Given the description of an element on the screen output the (x, y) to click on. 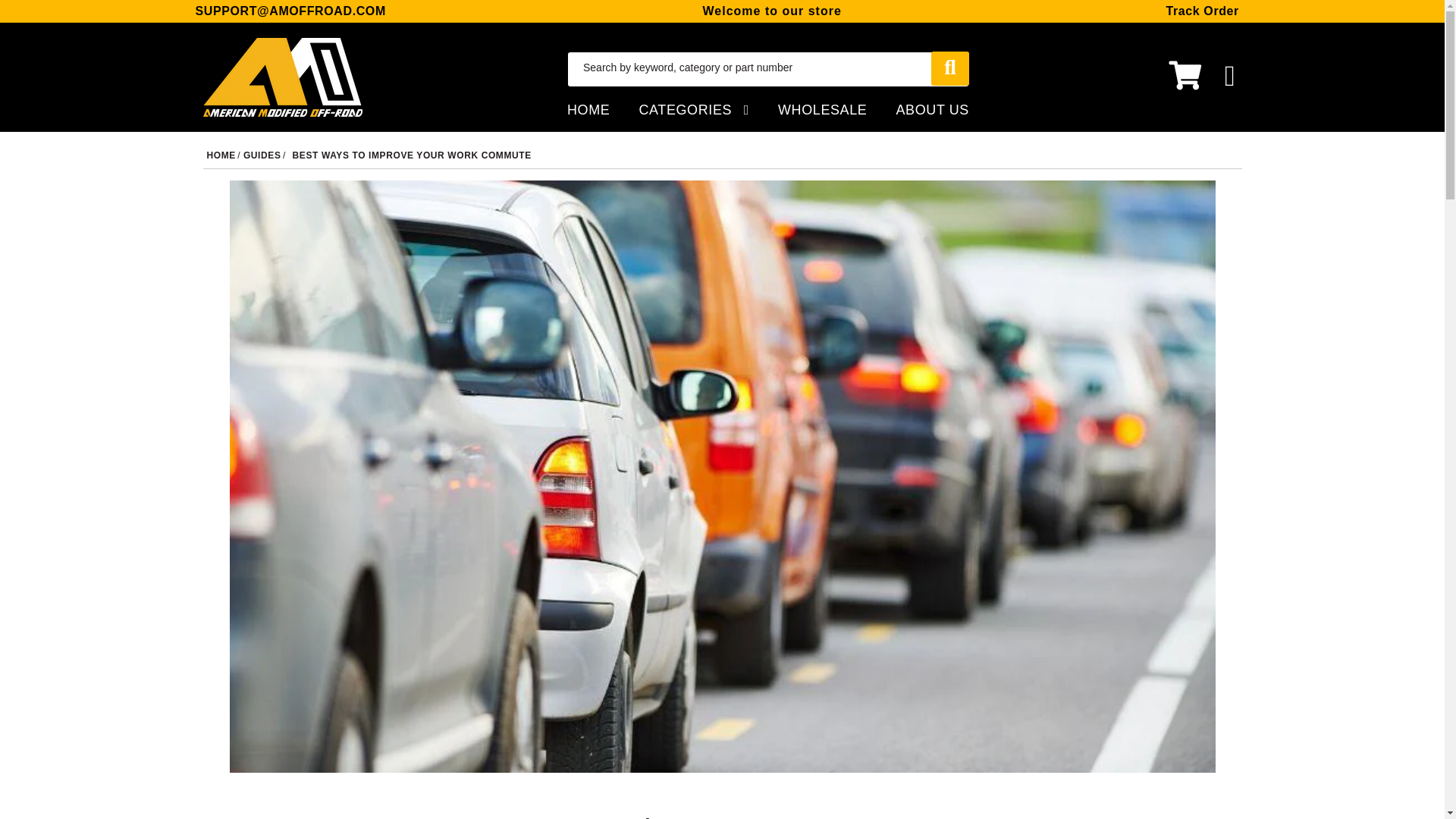
Track Order (1202, 10)
